Given the description of an element on the screen output the (x, y) to click on. 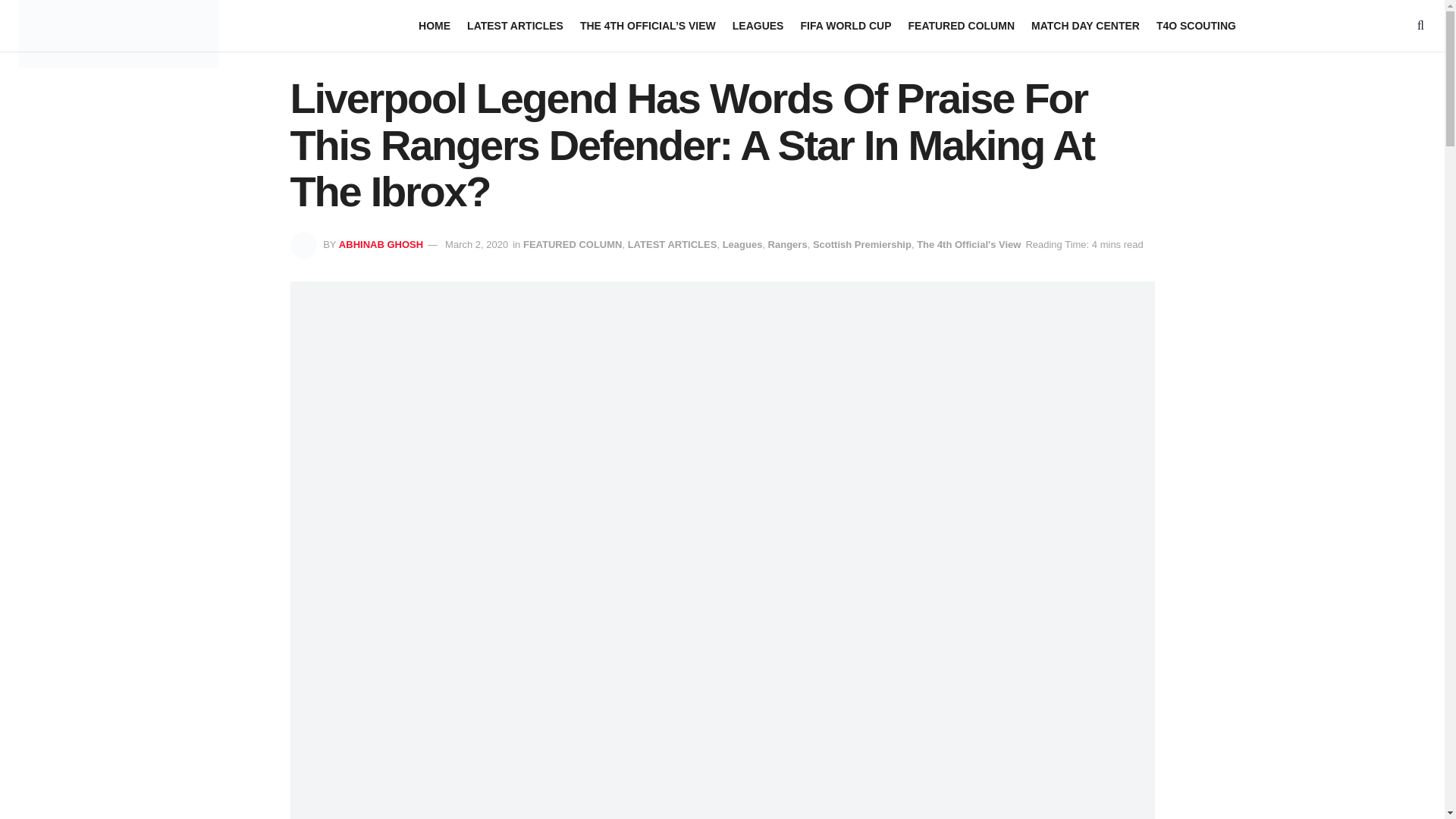
LEAGUES (758, 25)
LATEST ARTICLES (515, 25)
